Given the description of an element on the screen output the (x, y) to click on. 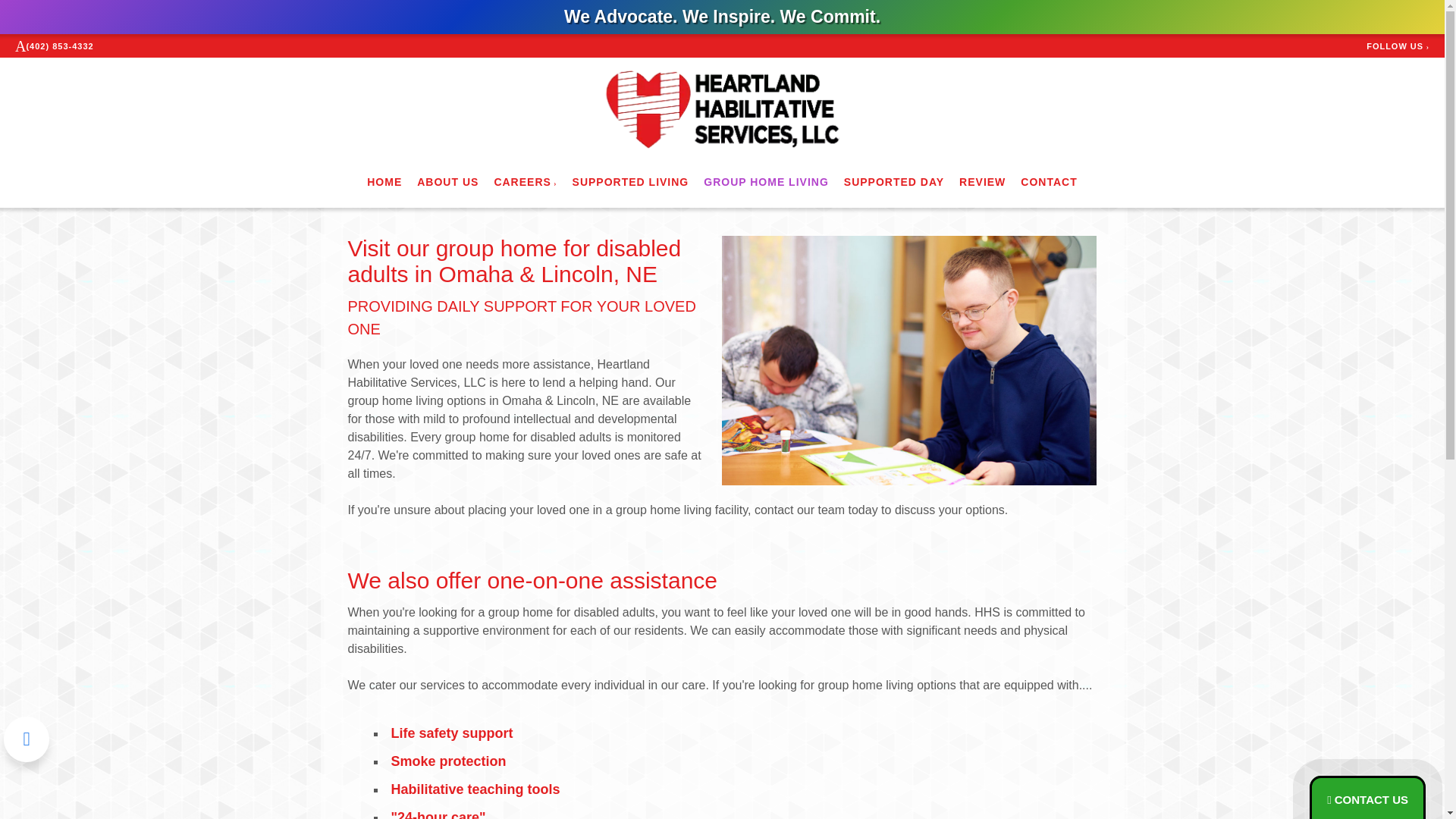
HOME (383, 181)
CONTACT (1048, 181)
GROUP HOME LIVING (765, 181)
ABOUT US (447, 181)
SUPPORTED LIVING (630, 181)
REVIEW (982, 181)
SUPPORTED DAY (893, 181)
